Given the description of an element on the screen output the (x, y) to click on. 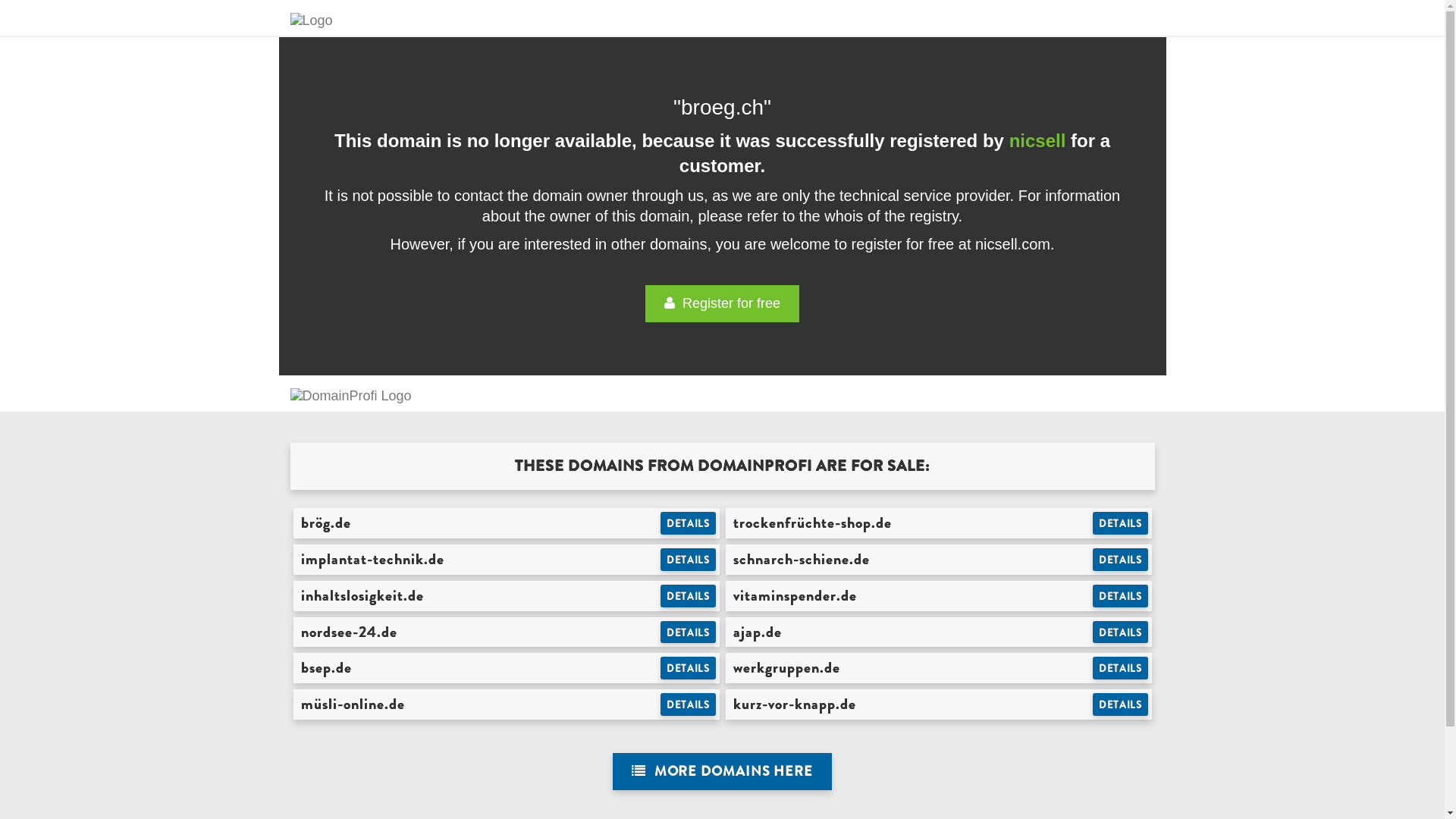
DETAILS Element type: text (1120, 559)
  MORE DOMAINS HERE Element type: text (721, 771)
DETAILS Element type: text (1120, 522)
DETAILS Element type: text (1120, 667)
DETAILS Element type: text (1120, 632)
DETAILS Element type: text (687, 522)
  Register for free Element type: text (722, 303)
DETAILS Element type: text (687, 595)
DETAILS Element type: text (687, 704)
DETAILS Element type: text (687, 667)
DETAILS Element type: text (687, 632)
DETAILS Element type: text (1120, 595)
DETAILS Element type: text (1120, 704)
nicsell Element type: text (1037, 140)
DETAILS Element type: text (687, 559)
